Given the description of an element on the screen output the (x, y) to click on. 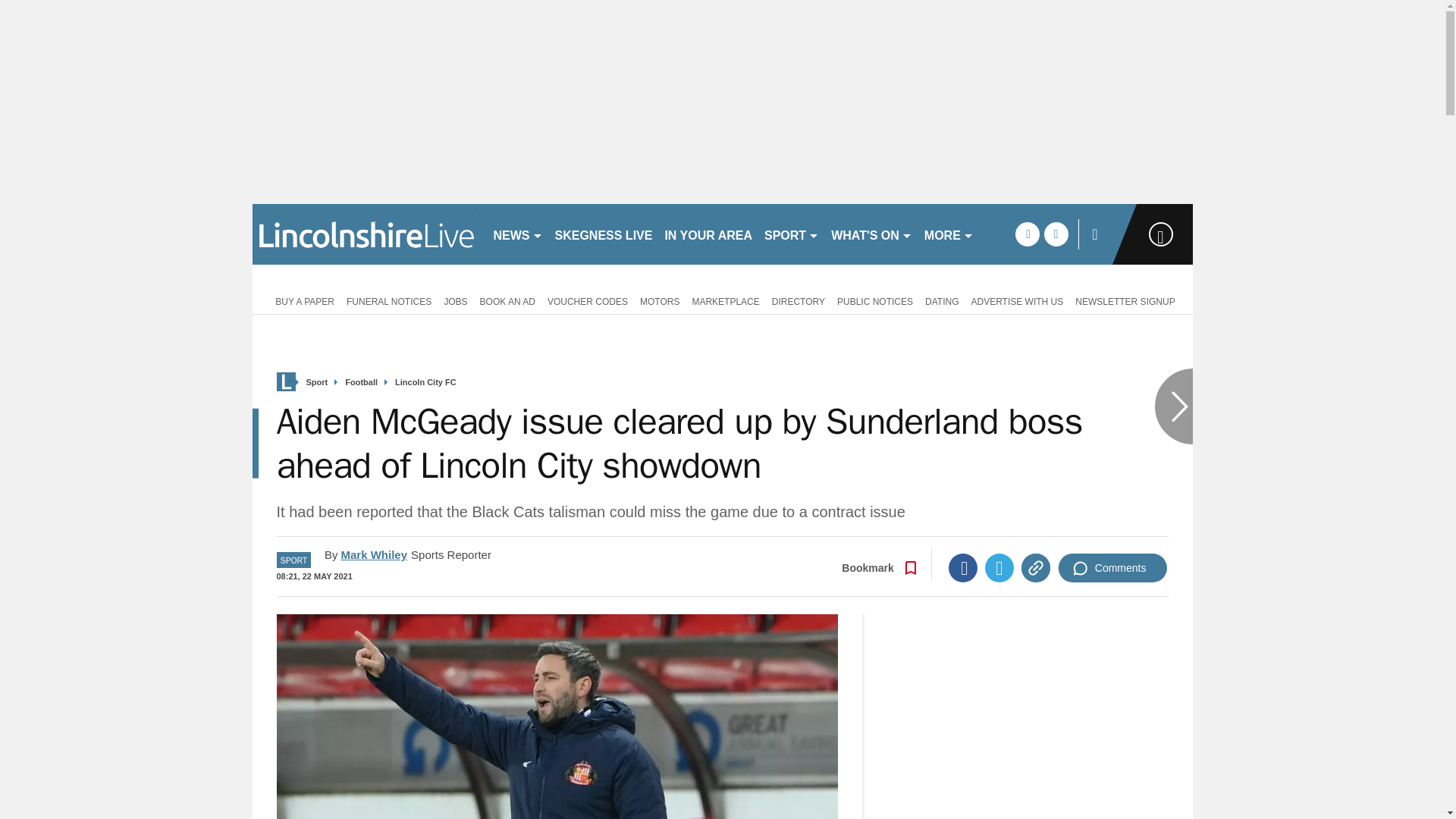
Twitter (999, 567)
BUY A PAPER (301, 300)
SKEGNESS LIVE (603, 233)
Comments (1112, 567)
NEWS (517, 233)
Facebook (962, 567)
lincolnshirelive (365, 233)
WHAT'S ON (871, 233)
MORE (948, 233)
twitter (1055, 233)
